Given the description of an element on the screen output the (x, y) to click on. 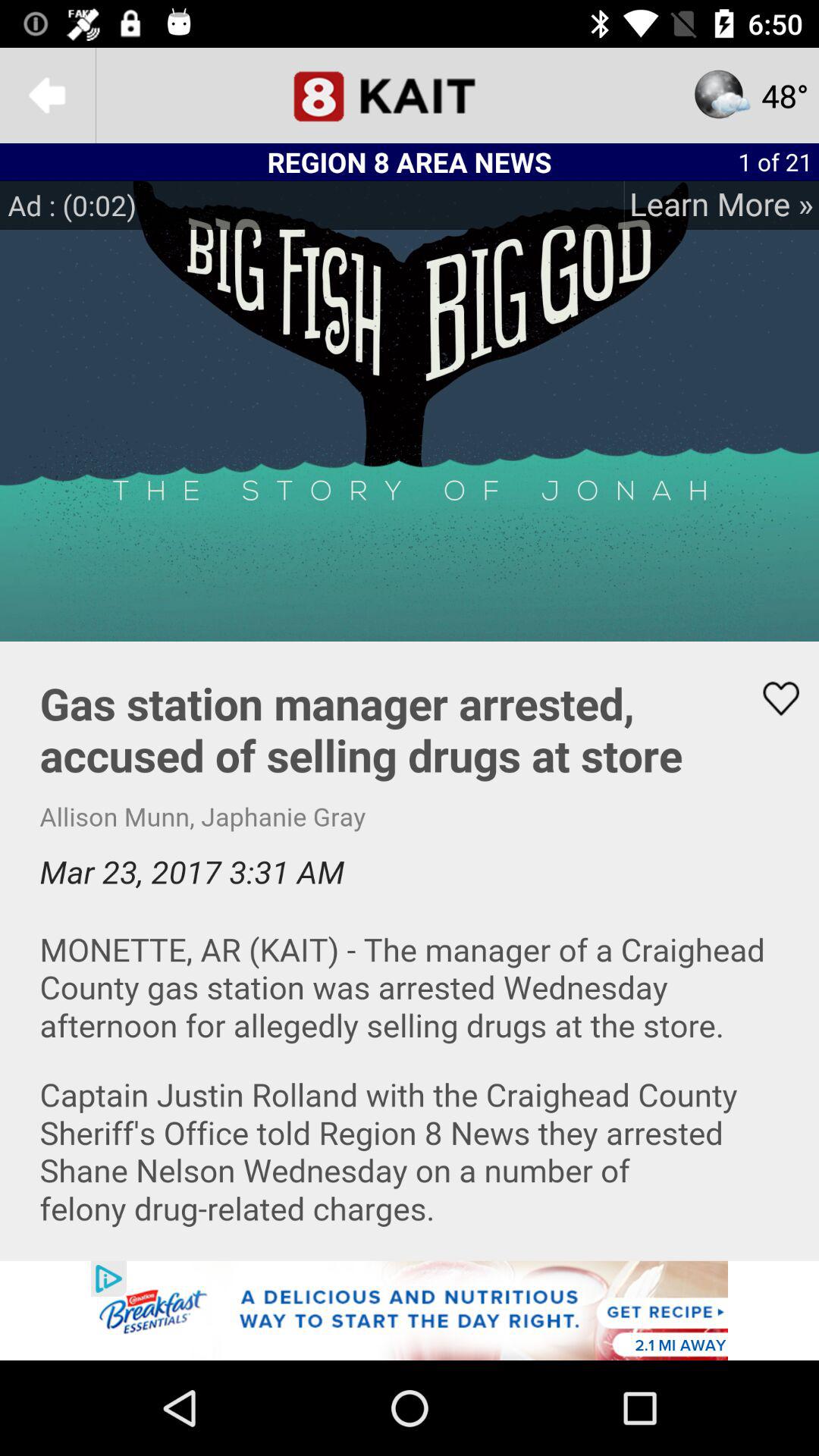
explore he advertisement (409, 1310)
